Given the description of an element on the screen output the (x, y) to click on. 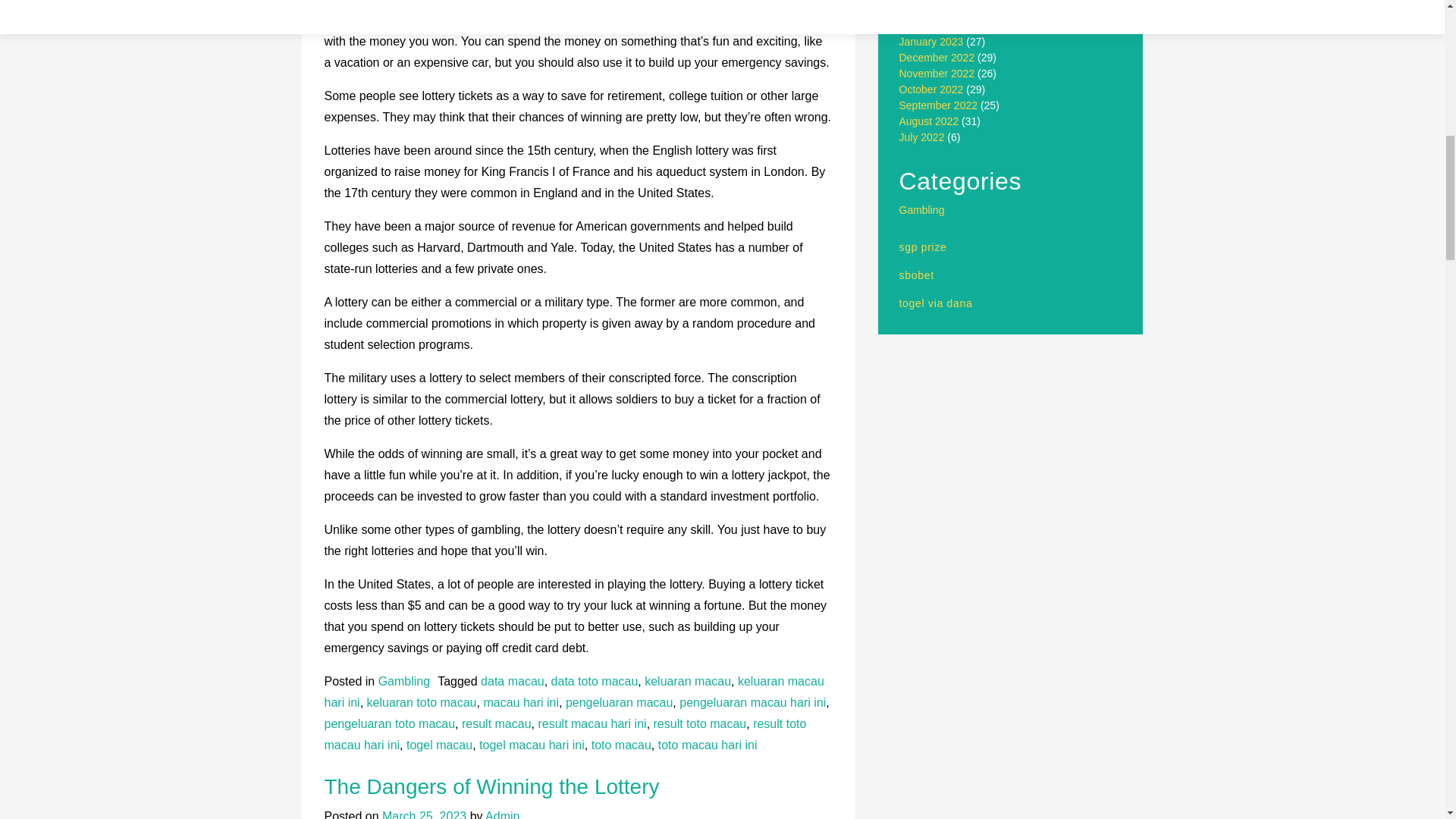
pengeluaran macau hari ini (752, 702)
Admin (501, 814)
togel macau (438, 744)
keluaran toto macau (421, 702)
result macau hari ini (591, 723)
Gambling (403, 680)
pengeluaran macau (619, 702)
result macau (496, 723)
toto macau (620, 744)
The Dangers of Winning the Lottery (491, 786)
keluaran macau hari ini (574, 691)
toto macau hari ini (707, 744)
result toto macau (699, 723)
data macau (512, 680)
keluaran macau (687, 680)
